Given the description of an element on the screen output the (x, y) to click on. 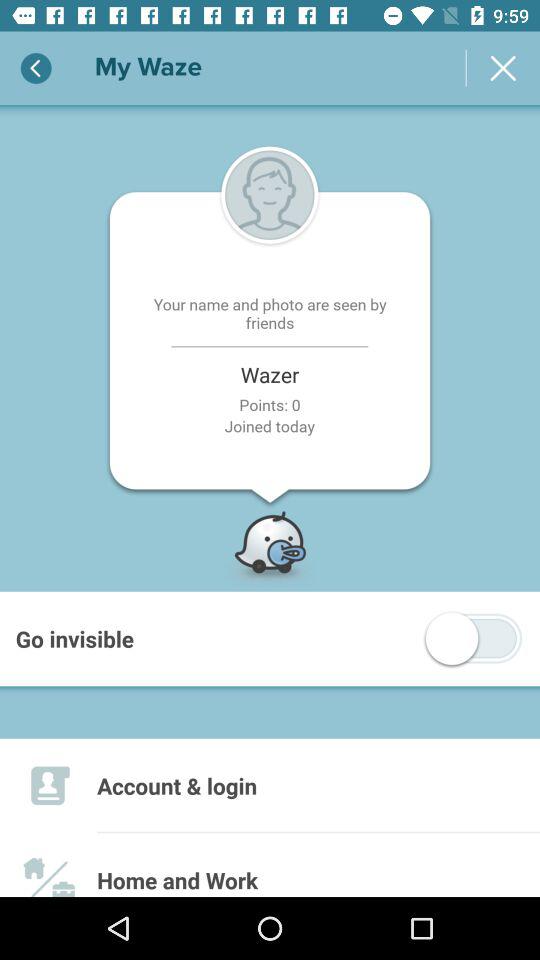
previous (36, 67)
